Given the description of an element on the screen output the (x, y) to click on. 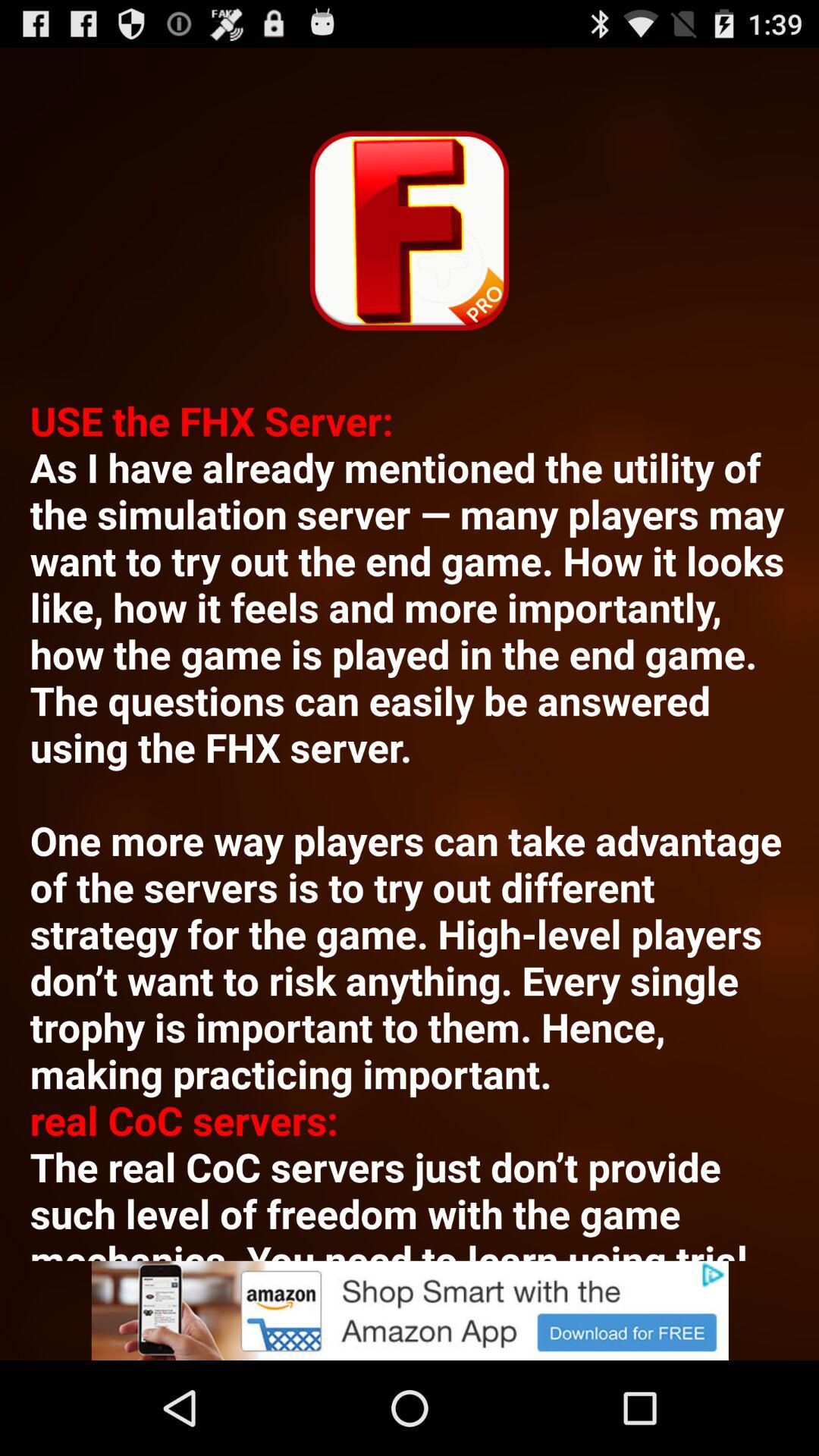
advertisement button (409, 1310)
